Given the description of an element on the screen output the (x, y) to click on. 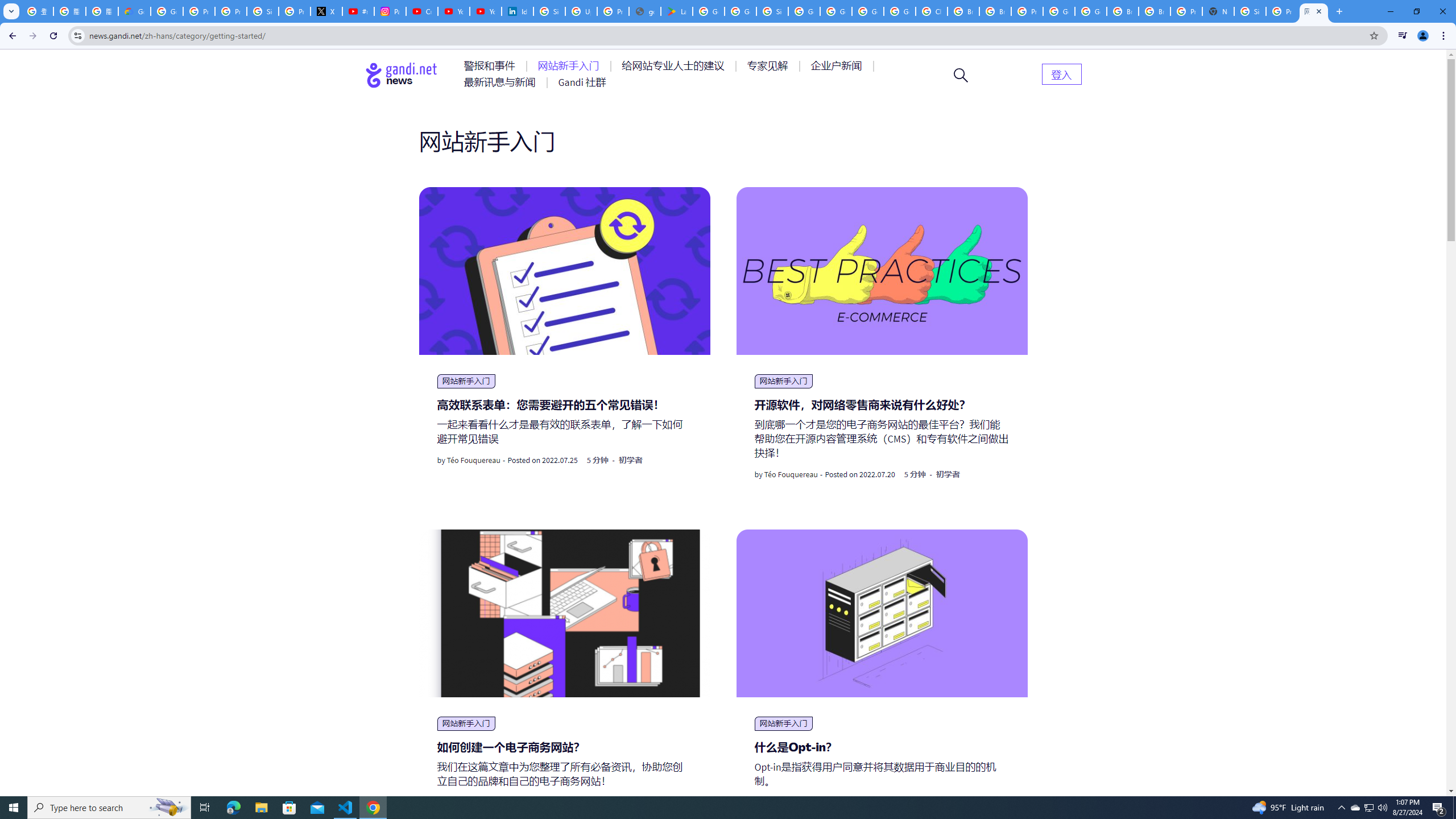
AutomationID: menu-item-77762 (570, 65)
Browse Chrome as a guest - Computer - Google Chrome Help (1123, 11)
Google Cloud Platform (1091, 11)
Browse Chrome as a guest - Computer - Google Chrome Help (963, 11)
